Given the description of an element on the screen output the (x, y) to click on. 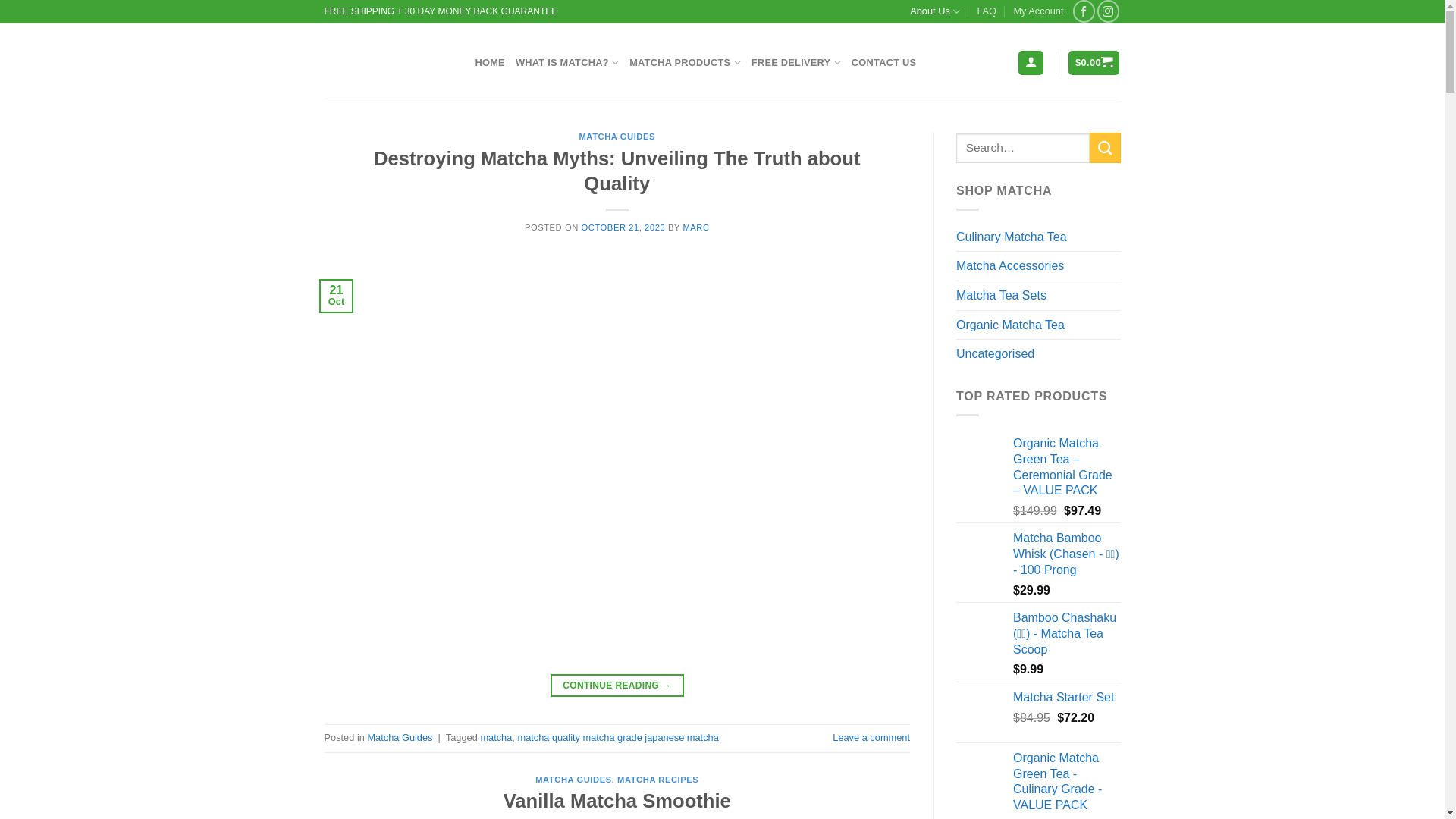
Matcha Accessories Element type: text (1038, 265)
CONTACT US Element type: text (883, 62)
MARC Element type: text (695, 227)
matcha quality matcha grade japanese matcha Element type: text (617, 737)
HOME Element type: text (489, 62)
MATCHA GUIDES Element type: text (616, 136)
Leave a comment Element type: text (871, 737)
About Us Element type: text (935, 11)
Culinary Matcha Tea Element type: text (1038, 236)
Follow on Instagram Element type: hover (1108, 10)
WHAT IS MATCHA? Element type: text (566, 62)
FAQ Element type: text (986, 11)
Organic Matcha Tea Element type: text (1038, 324)
Uncategorised Element type: text (1038, 353)
Matcha Starter Set Element type: text (1066, 698)
Destroying Matcha Myths: Unveiling The Truth about Quality Element type: text (616, 170)
OCTOBER 21, 2023 Element type: text (622, 227)
Matcha Tea Sets Element type: text (1038, 295)
Skip to content Element type: text (0, 0)
FREE DELIVERY Element type: text (795, 62)
My Account Element type: text (1038, 11)
$0.00 Element type: text (1093, 62)
MATCHA PRODUCTS Element type: text (684, 62)
Vanilla Matcha Smoothie Element type: text (617, 800)
Organic Matcha Green Tea - Culinary Grade - VALUE PACK Element type: text (1066, 781)
Matcha Guides Element type: text (399, 737)
MATCHA GUIDES Element type: text (573, 779)
matcha Element type: text (495, 737)
MATCHA RECIPES Element type: text (657, 779)
Follow on Facebook Element type: hover (1084, 10)
